Given the description of an element on the screen output the (x, y) to click on. 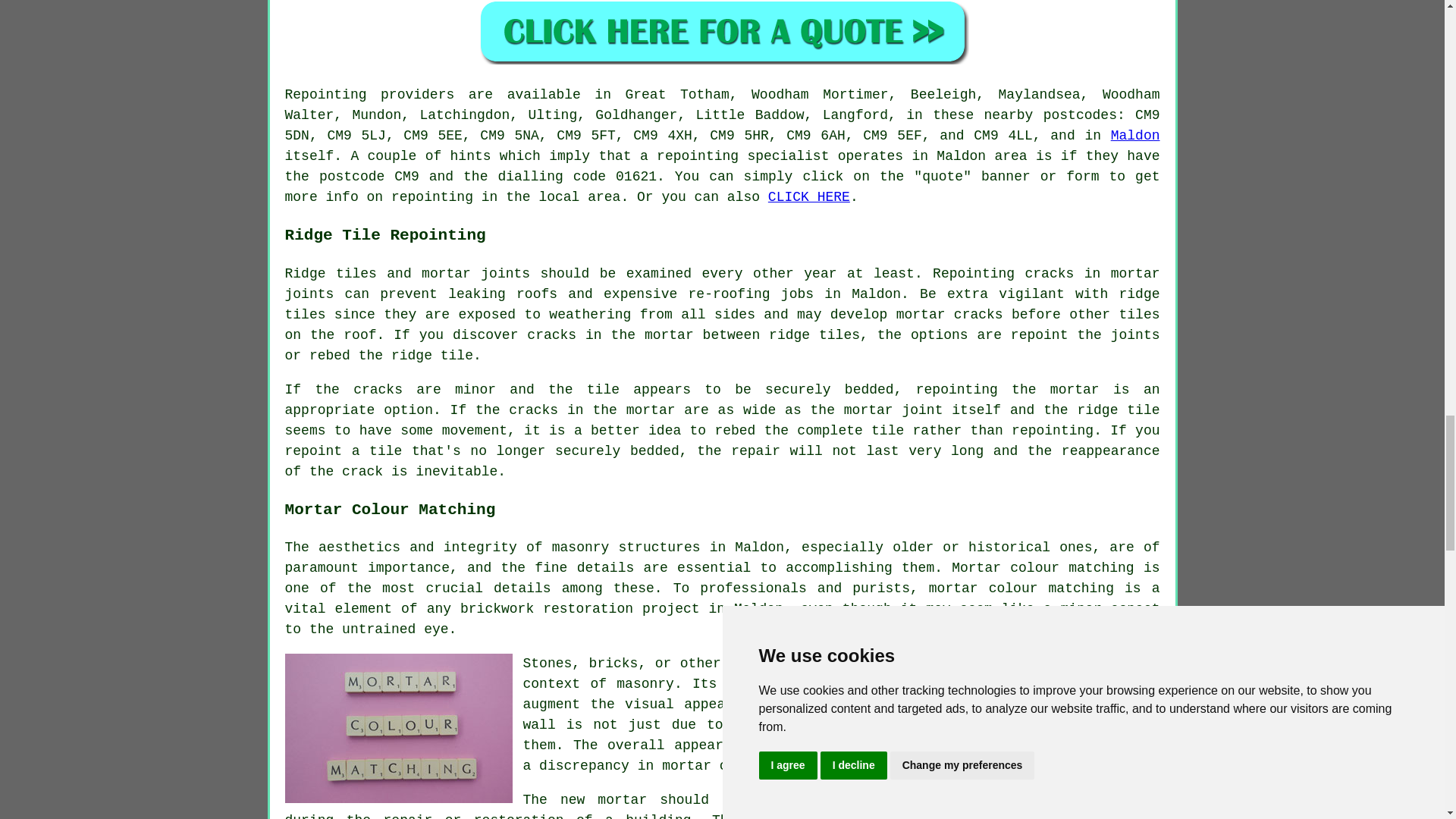
Mortar Colour Matching Maldon (398, 728)
repointing (697, 155)
Book a Repointing Specialist in Maldon UK (722, 32)
Repointing (325, 94)
repointing (432, 196)
